Given the description of an element on the screen output the (x, y) to click on. 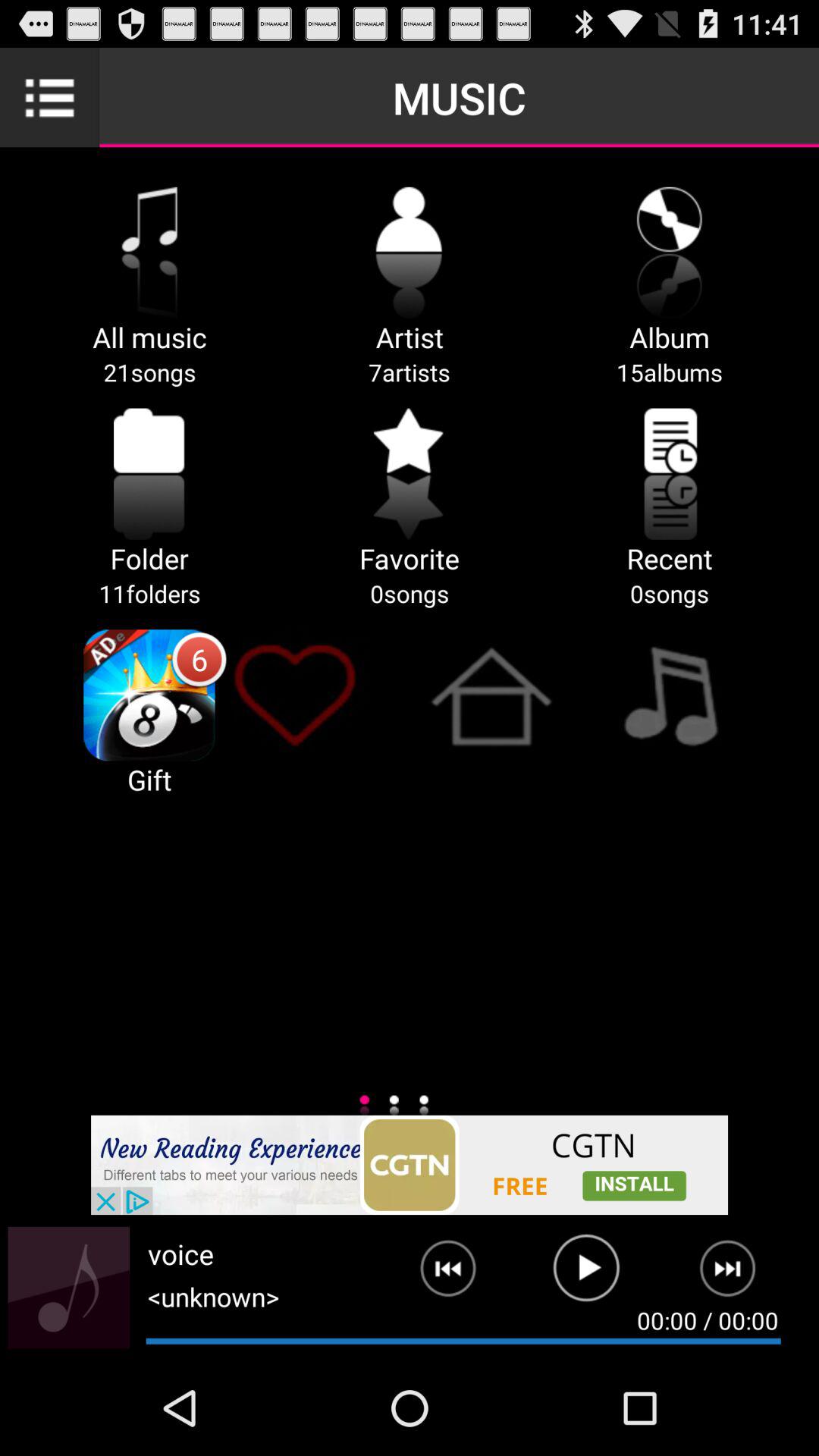
advertisement (409, 1164)
